Given the description of an element on the screen output the (x, y) to click on. 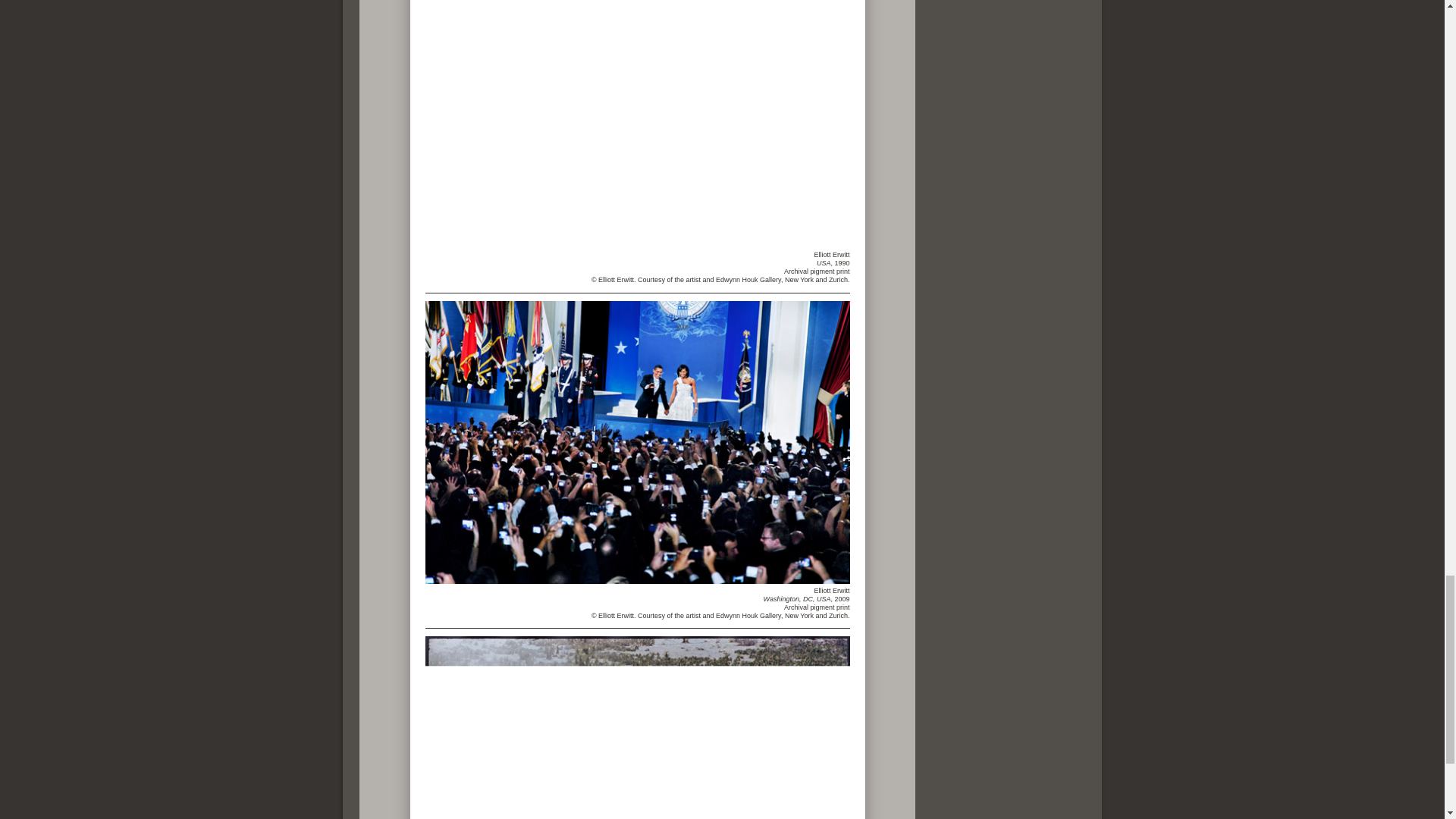
Kolor (636, 727)
Kolor (705, 124)
Kolor (636, 442)
